Given the description of an element on the screen output the (x, y) to click on. 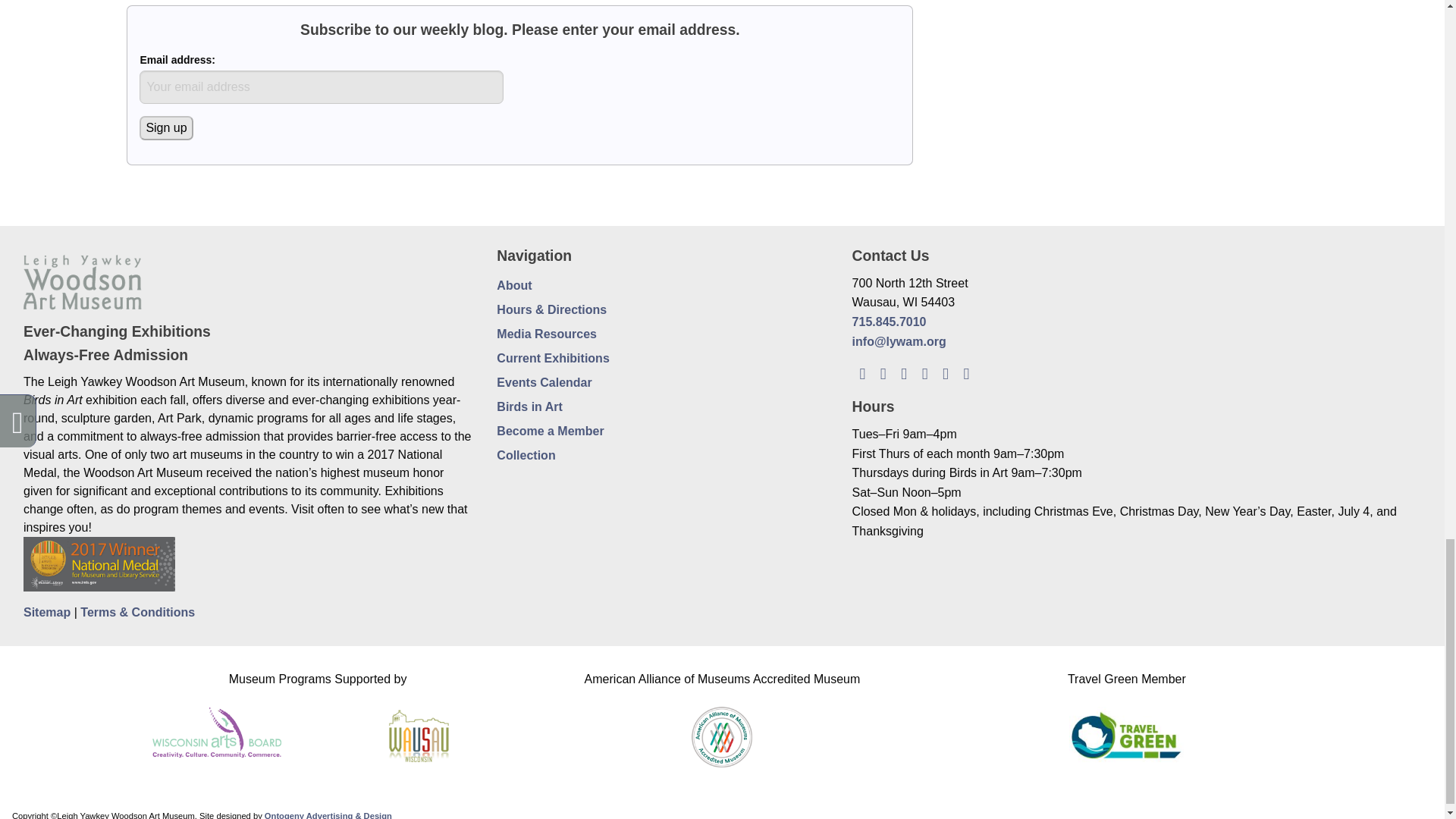
Like Us on Facebook (882, 372)
Instagram (924, 372)
Woodson Art Museum Blog (861, 372)
Follow Us on Twitter (903, 372)
American Alliance of Museums (721, 732)
Watch Our Videos on YouTube (944, 372)
Sign up (165, 128)
Wisconsin Arts Board (216, 727)
City of Wausau (419, 732)
Contact Us (966, 372)
